Given the description of an element on the screen output the (x, y) to click on. 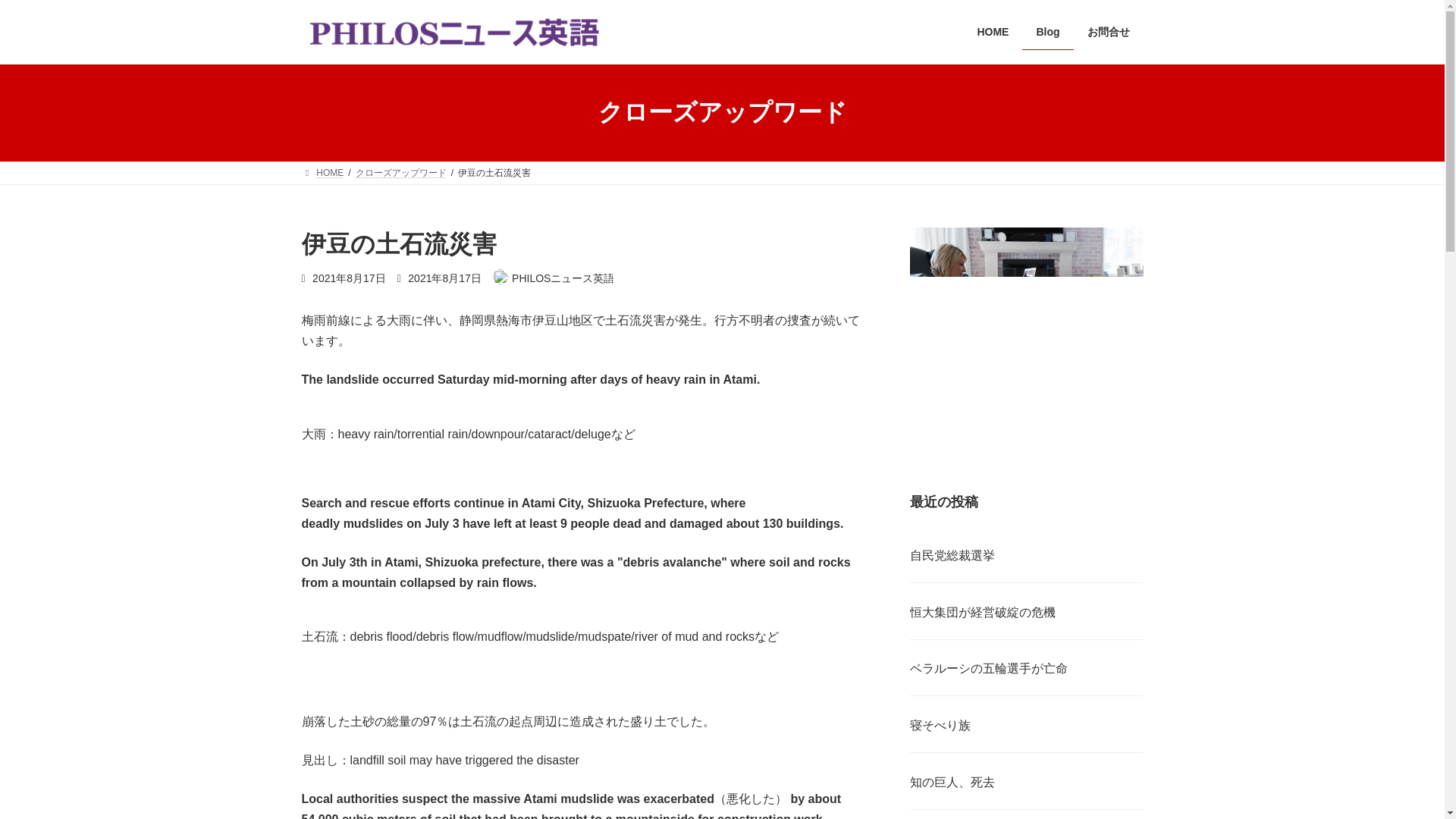
HOME (992, 31)
Blog (1047, 31)
HOME (322, 172)
